Given the description of an element on the screen output the (x, y) to click on. 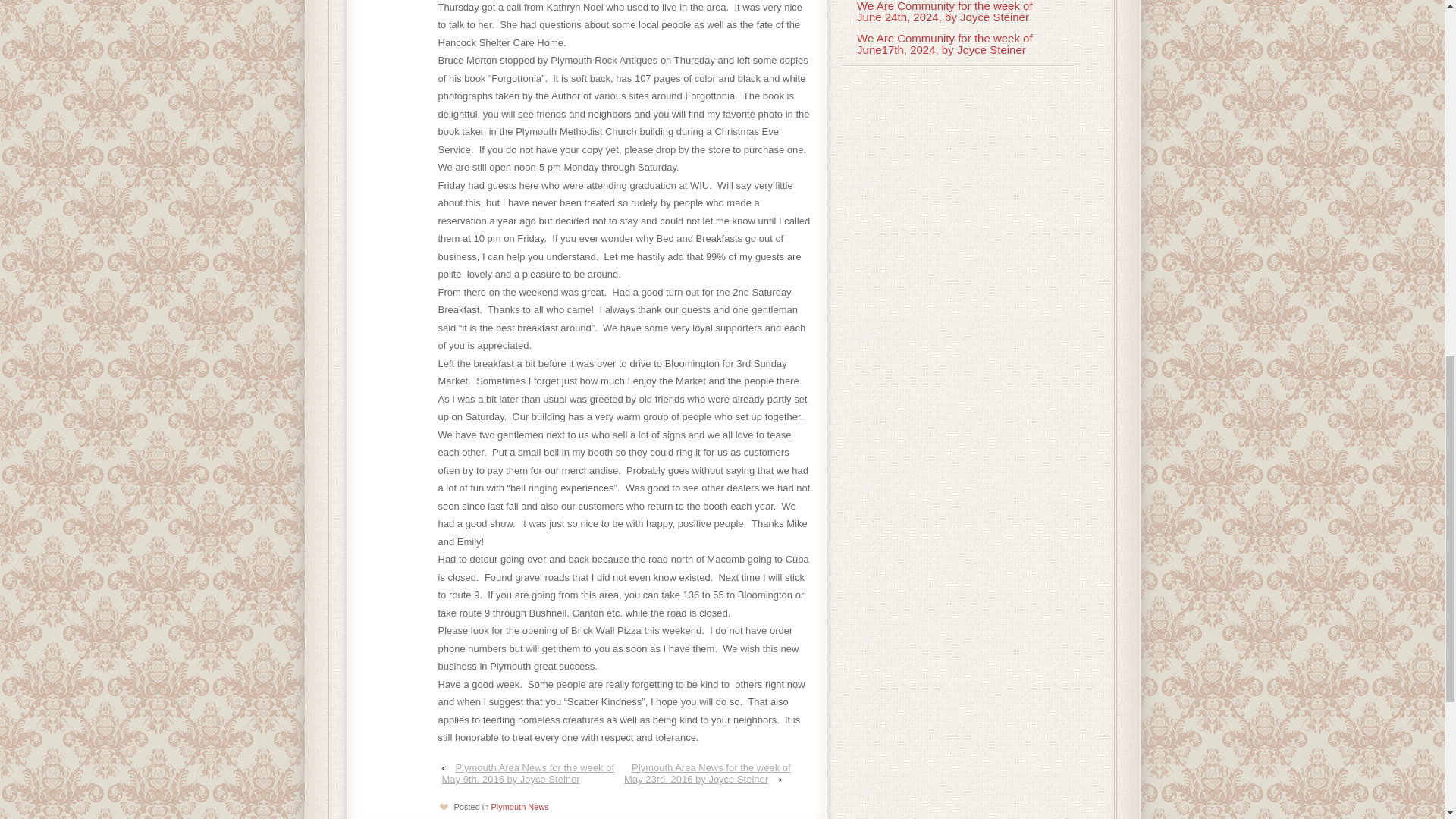
Plymouth News (519, 806)
